Given the description of an element on the screen output the (x, y) to click on. 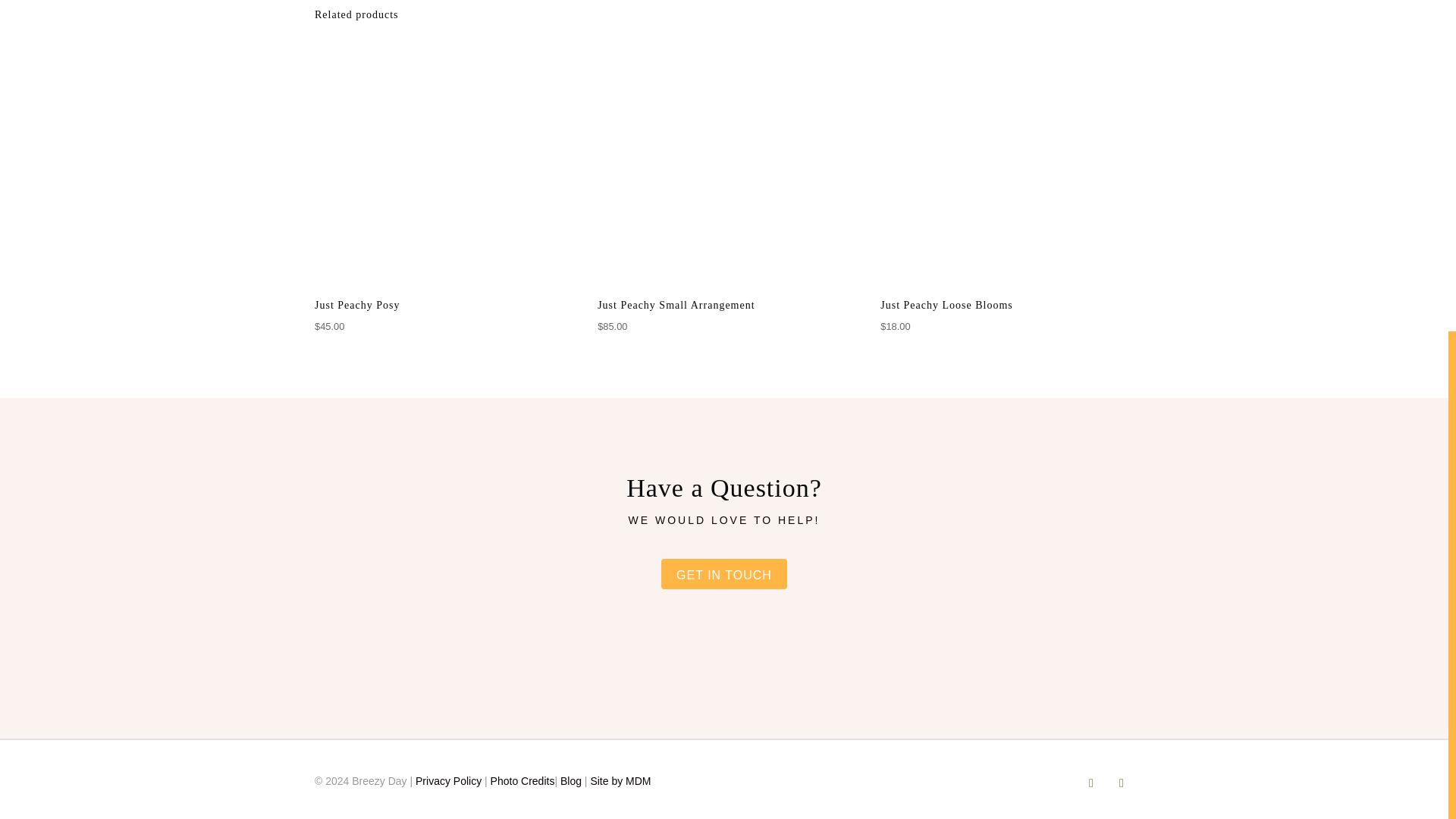
Photo Credits (522, 780)
Follow on Instagram (1121, 783)
Privacy Policy (447, 780)
GET IN TOUCH (724, 573)
Blog (570, 780)
Follow on Facebook (1090, 783)
